Given the description of an element on the screen output the (x, y) to click on. 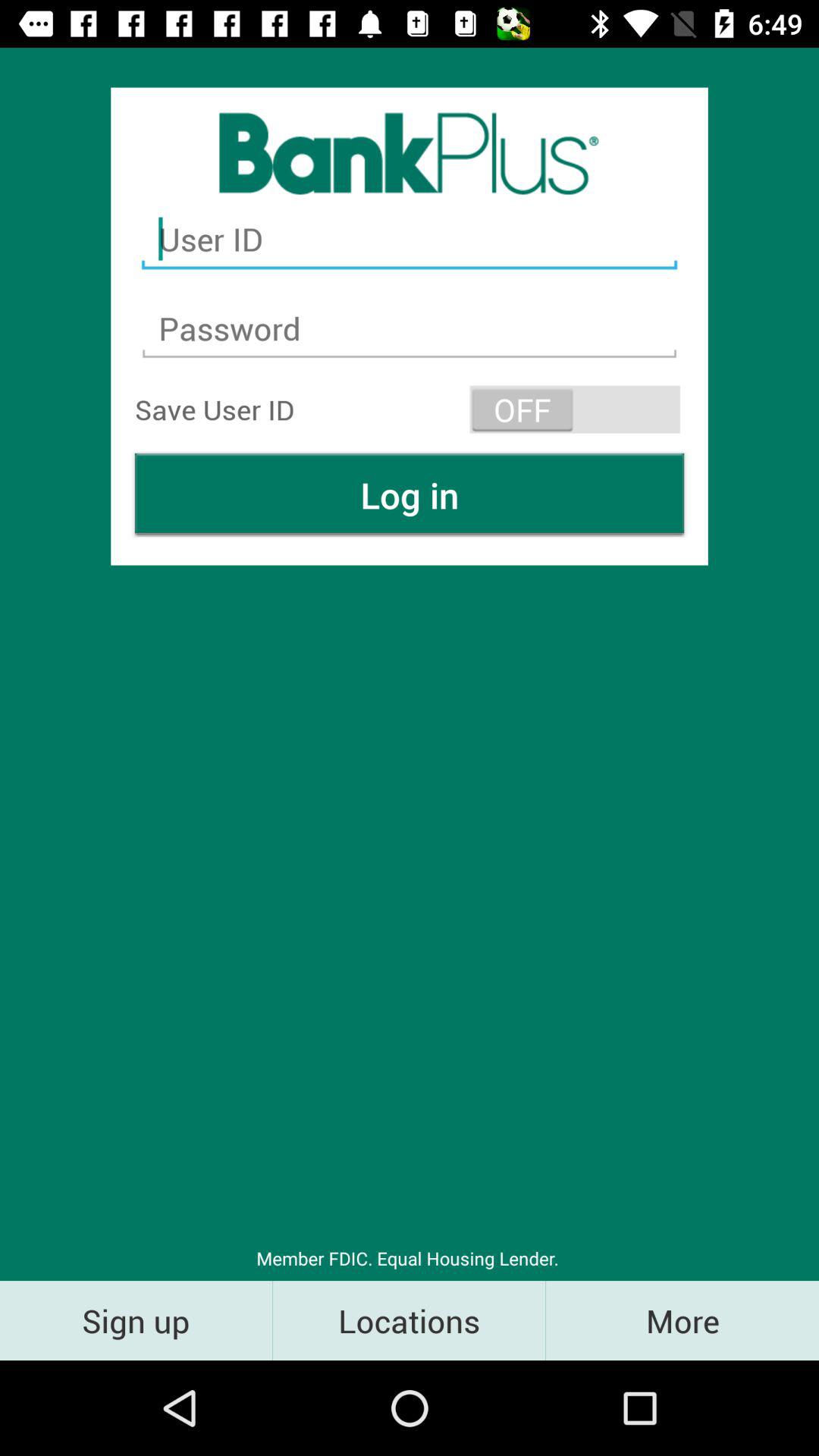
select icon above member fdic equal icon (409, 494)
